Given the description of an element on the screen output the (x, y) to click on. 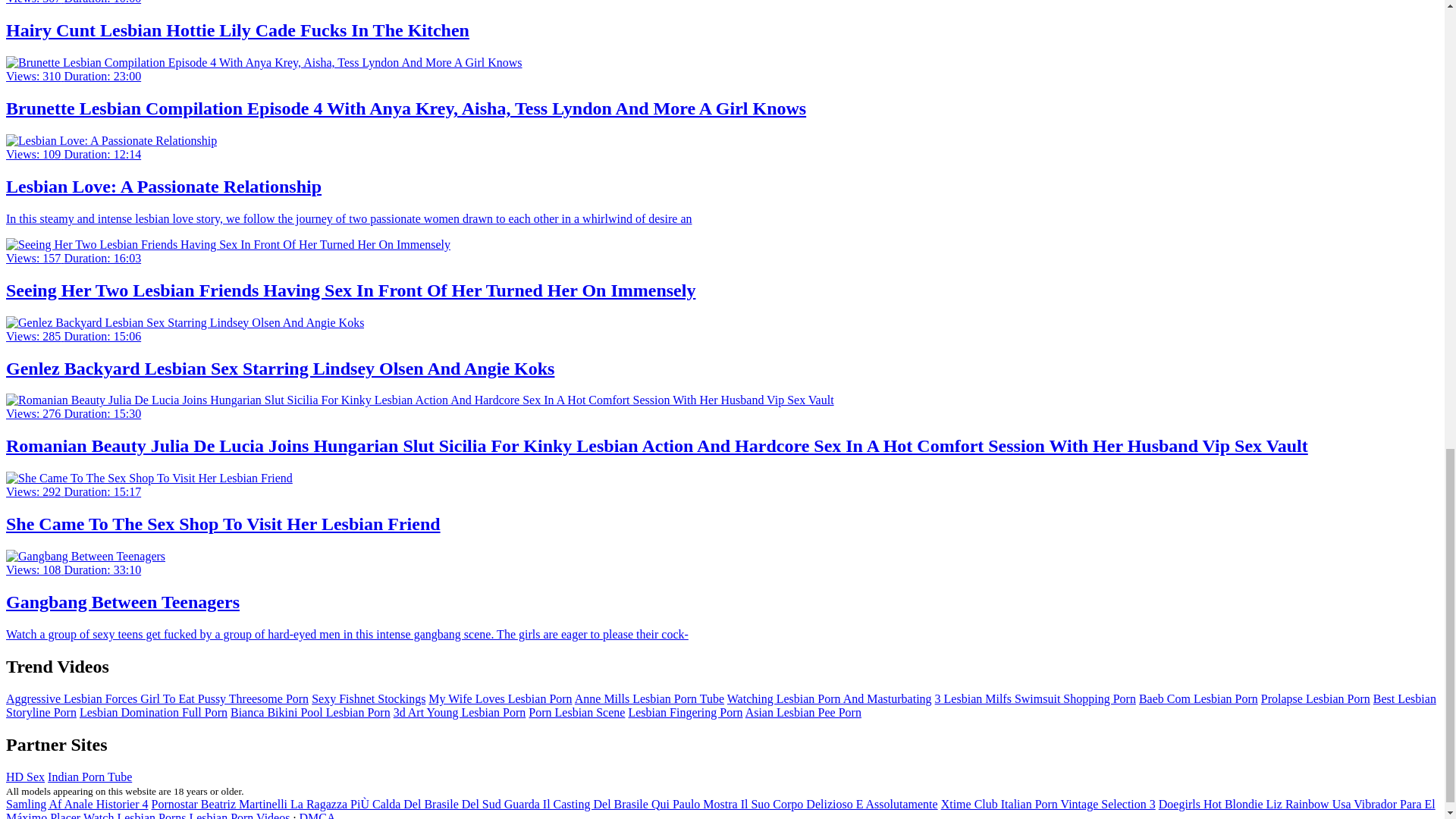
Porn Lesbian Scene (576, 712)
Aggressive Lesbian Forces Girl To Eat Pussy Threesome Porn (156, 698)
Lesbian Fingering Porn (684, 712)
My Wife Loves Lesbian Porn (500, 698)
Baeb Com Lesbian Porn (1197, 698)
Prolapse Lesbian Porn (1315, 698)
Lesbian Domination Full Porn (153, 712)
Anne Mills Lesbian Porn Tube (649, 698)
3 Lesbian Milfs Swimsuit Shopping Porn (1034, 698)
Asian Lesbian Pee Porn (803, 712)
